Given the description of an element on the screen output the (x, y) to click on. 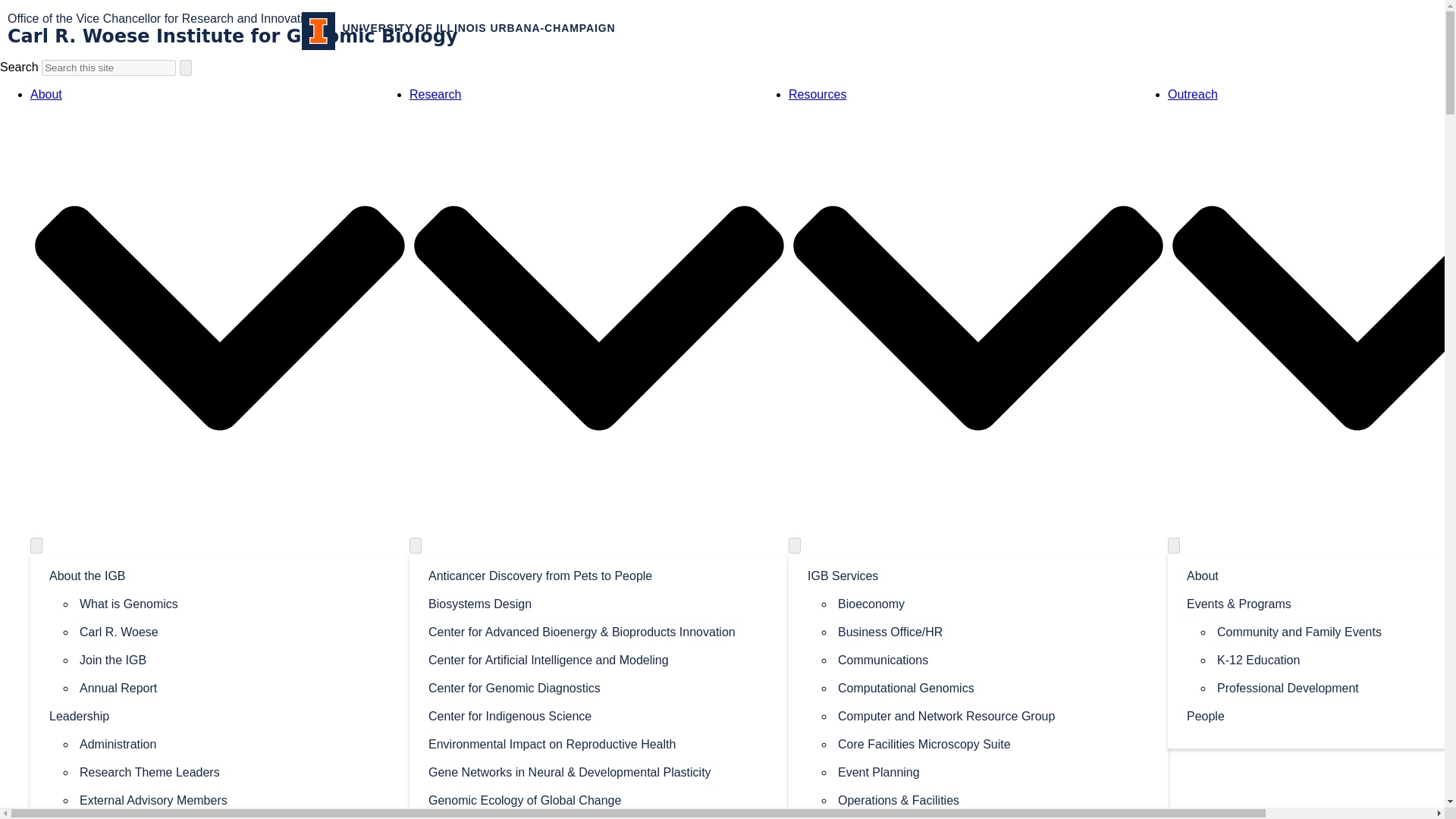
Annual Report (234, 687)
Diversity (219, 816)
External Advisory Members (234, 799)
Videos (234, 687)
Administration (234, 743)
About the IGB (219, 574)
Center for Indigenous Science (599, 715)
Diversity (219, 816)
External Advisory Members (234, 799)
What is Genomics (234, 602)
Research (435, 93)
Genomic Security and Privacy (599, 816)
Research Theme Leaders (234, 771)
What is Genomics (234, 602)
About (46, 93)
